Given the description of an element on the screen output the (x, y) to click on. 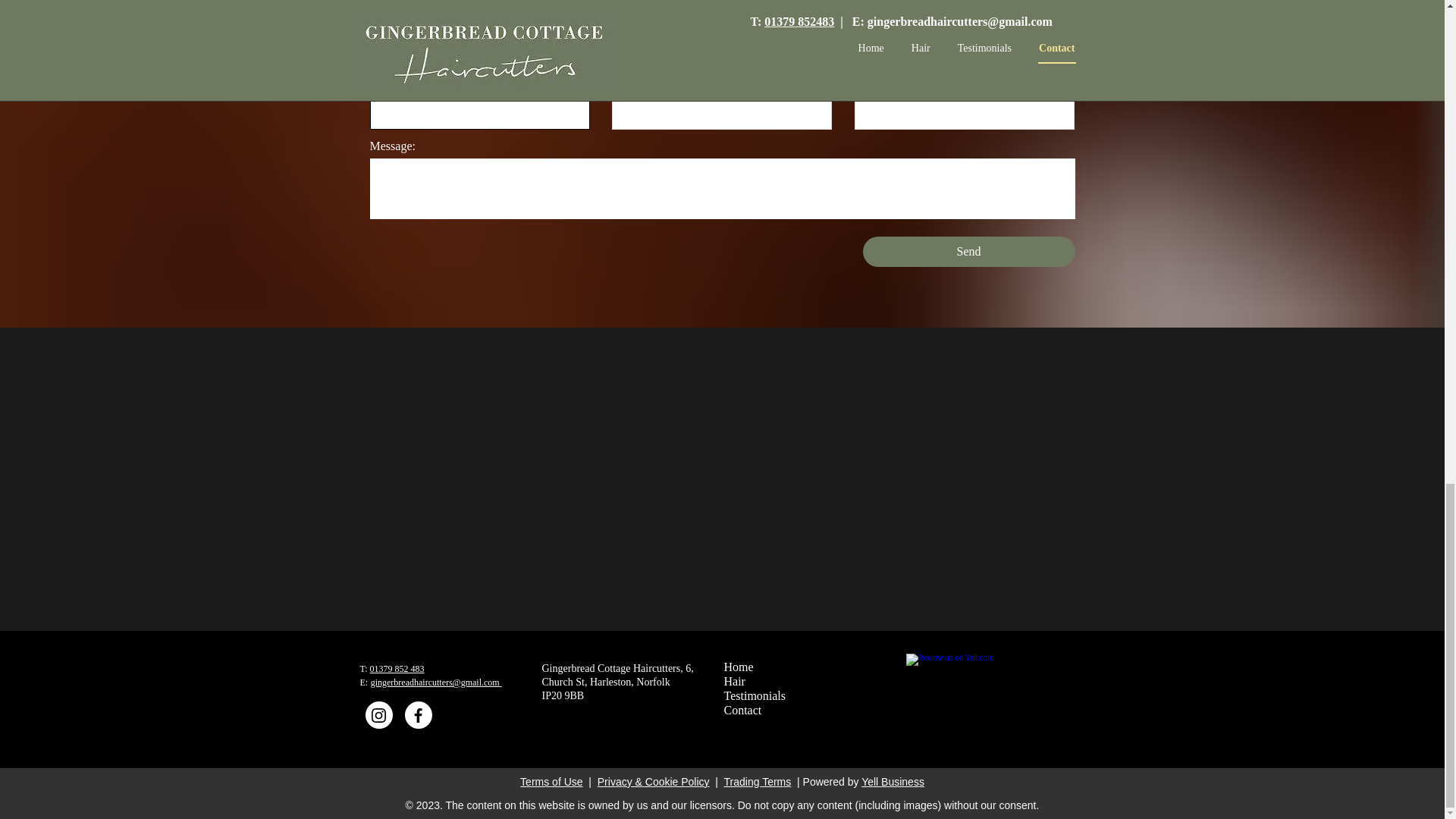
Home (737, 666)
Testimonials (754, 695)
Trading Terms (757, 781)
Yell Business (892, 781)
Contact (742, 710)
Hair (733, 681)
Review us on Yell.com (973, 687)
Send (969, 251)
01379 852 483 (397, 668)
Terms of Use (550, 781)
